Given the description of an element on the screen output the (x, y) to click on. 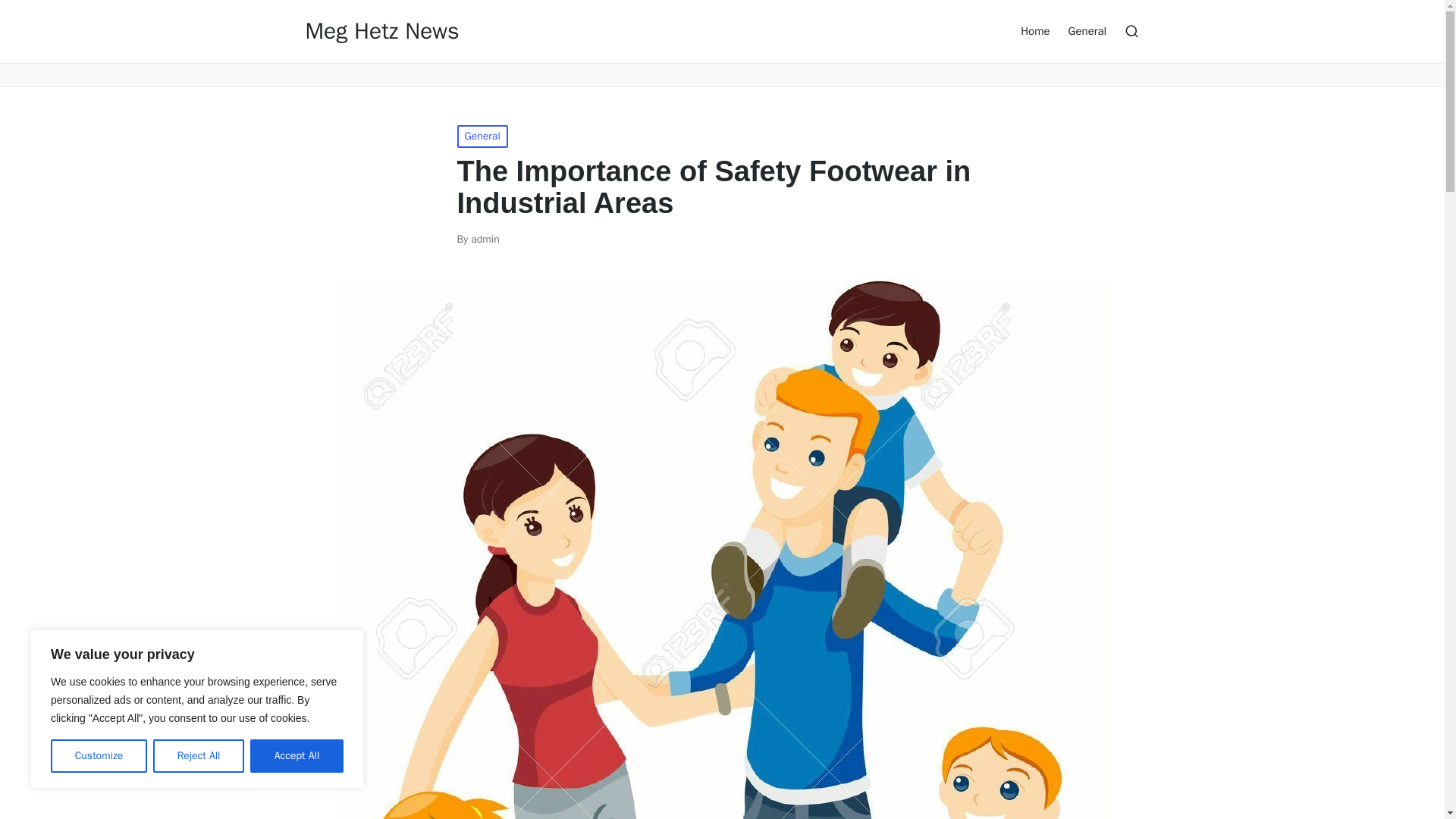
General (481, 136)
View all posts by  (484, 238)
Meg Hetz News (381, 31)
admin (484, 238)
Reject All (198, 756)
Customize (98, 756)
Home (1034, 30)
Accept All (296, 756)
General (1087, 30)
